Given the description of an element on the screen output the (x, y) to click on. 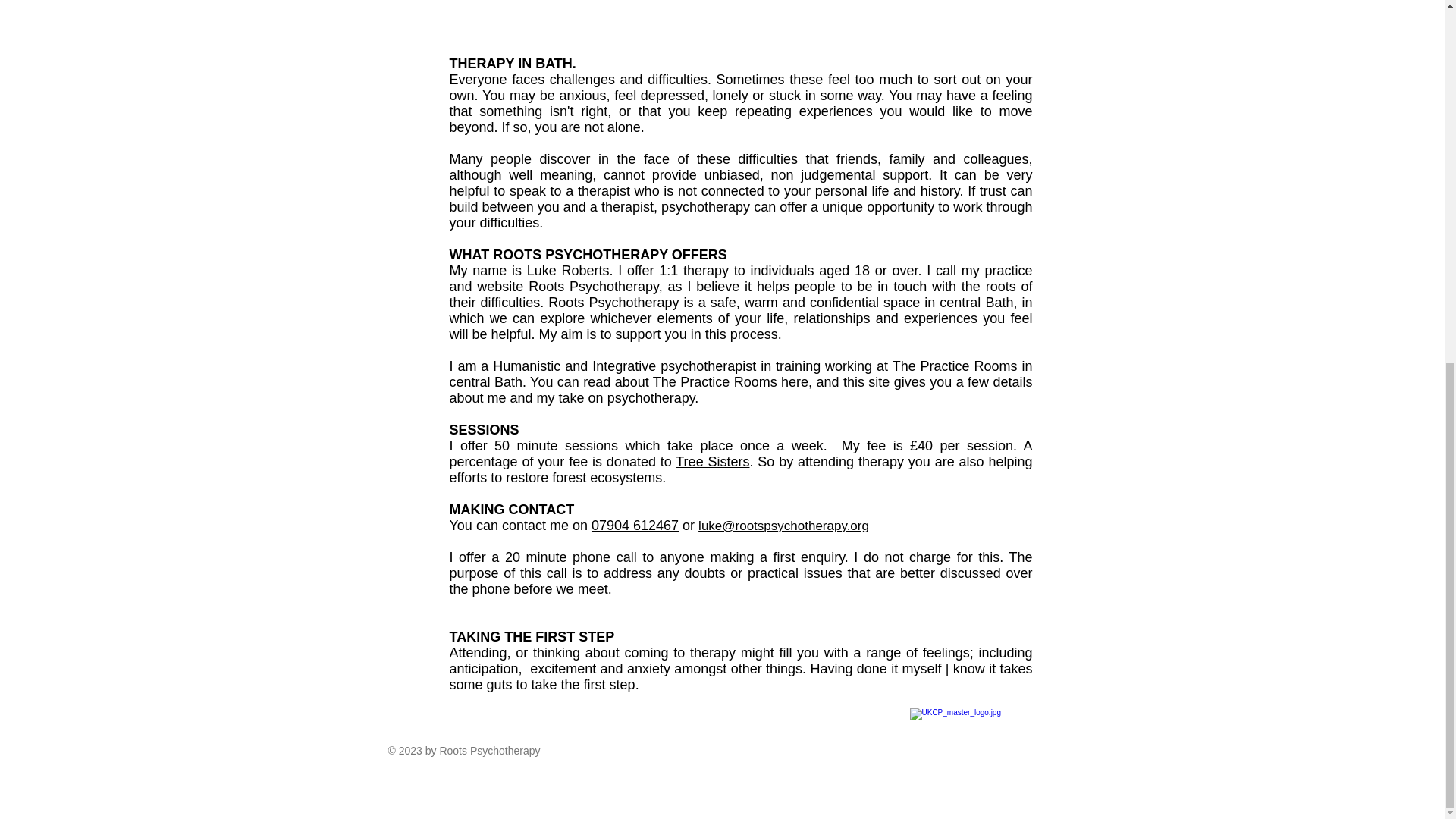
07904 612467 (634, 525)
The Practice Rooms in central Bath (740, 373)
Tree Sisters (712, 461)
